Given the description of an element on the screen output the (x, y) to click on. 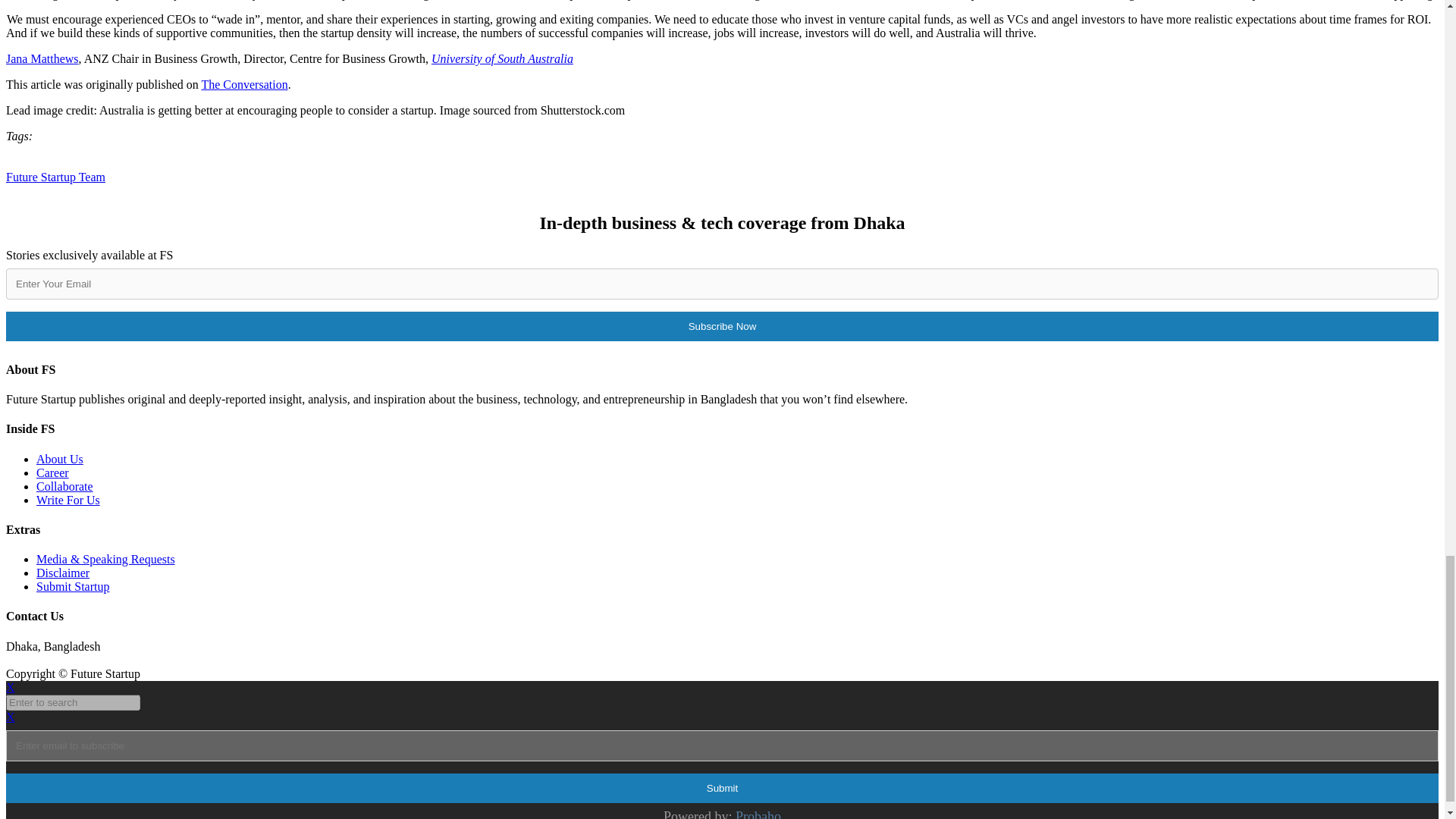
University of South Australia (501, 58)
Collaborate (64, 486)
The Conversation (243, 83)
About Us (59, 459)
Future Startup Team (54, 176)
Search for: (72, 702)
Jana Matthews (41, 58)
Write For Us (68, 499)
Disclaimer (62, 572)
Career (52, 472)
